Given the description of an element on the screen output the (x, y) to click on. 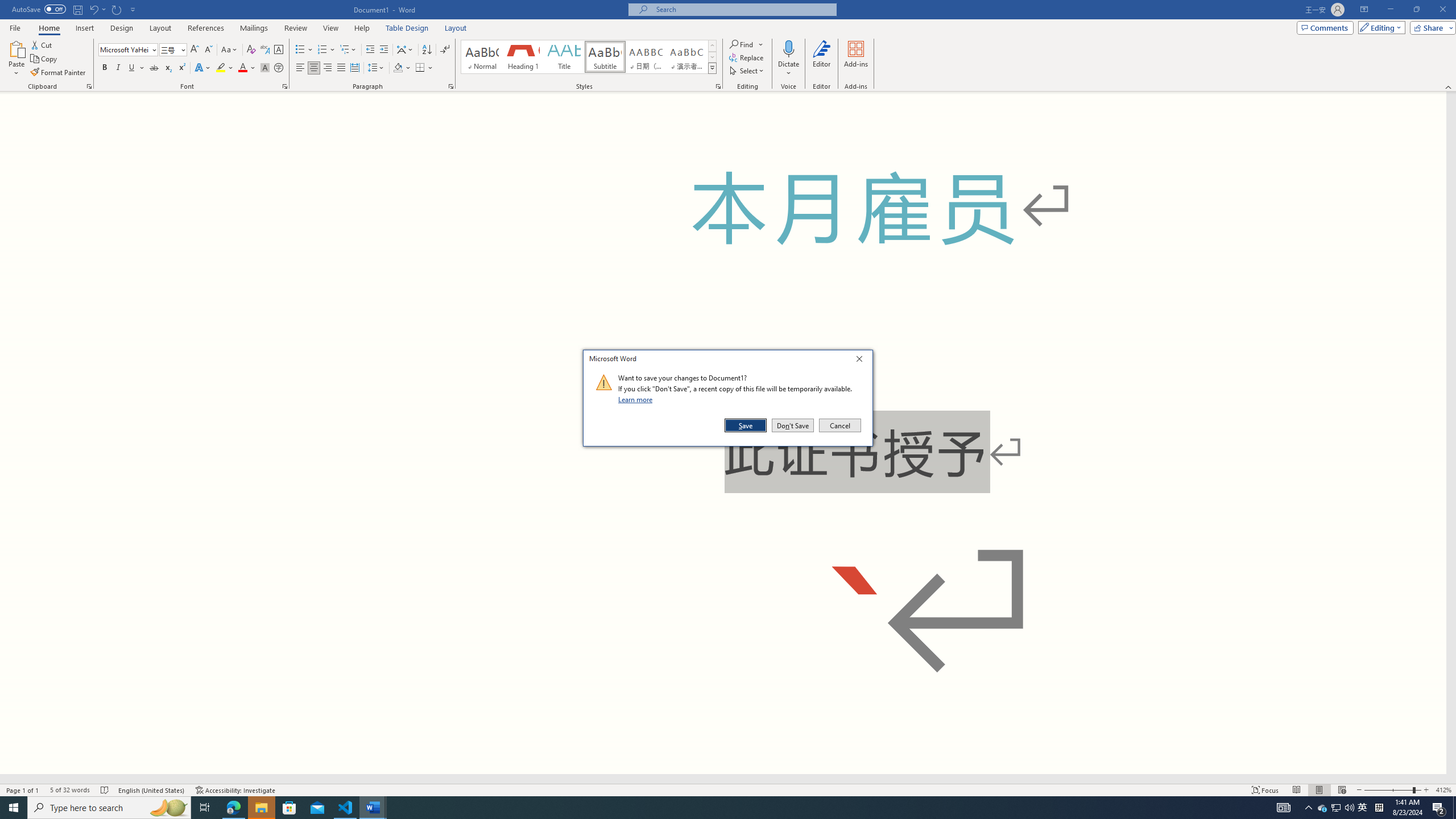
Bold (104, 67)
Text Highlight Color Yellow (220, 67)
Zoom 412% (1443, 790)
Replace... (747, 56)
Editing (1379, 27)
Microsoft Store (289, 807)
Font Color Red (241, 67)
Cut (42, 44)
Strikethrough (154, 67)
Show/Hide Editing Marks (444, 49)
